Given the description of an element on the screen output the (x, y) to click on. 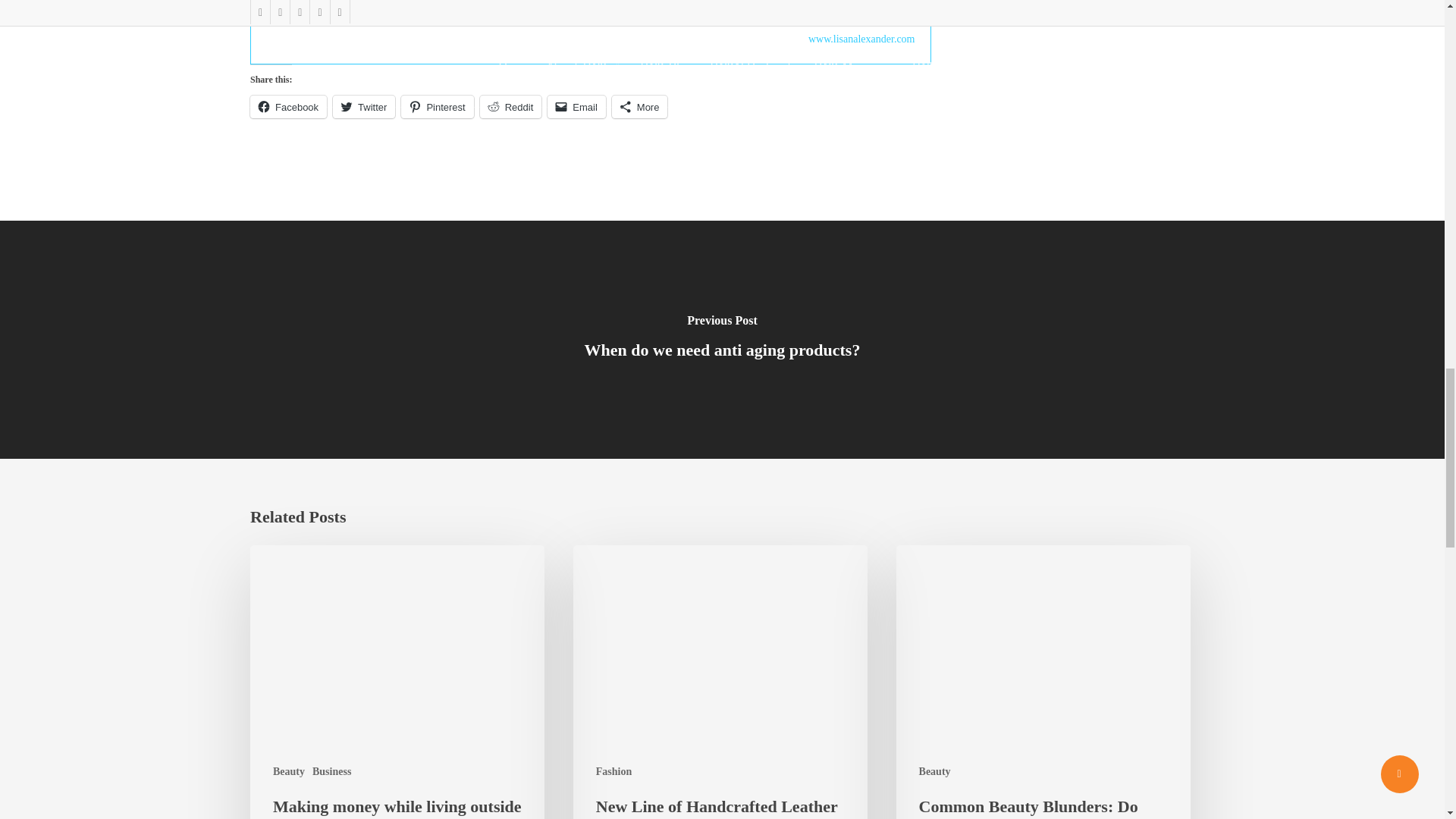
Click to email a link to a friend (576, 106)
www.lisanalexander.com (861, 39)
Email (576, 106)
Facebook (288, 106)
Click to share on Twitter (363, 106)
PrettyWork Creative (635, 9)
Twitter (363, 106)
Click to share on Pinterest (437, 106)
Click to share on Reddit (510, 106)
Click to share on Facebook (288, 106)
